Given the description of an element on the screen output the (x, y) to click on. 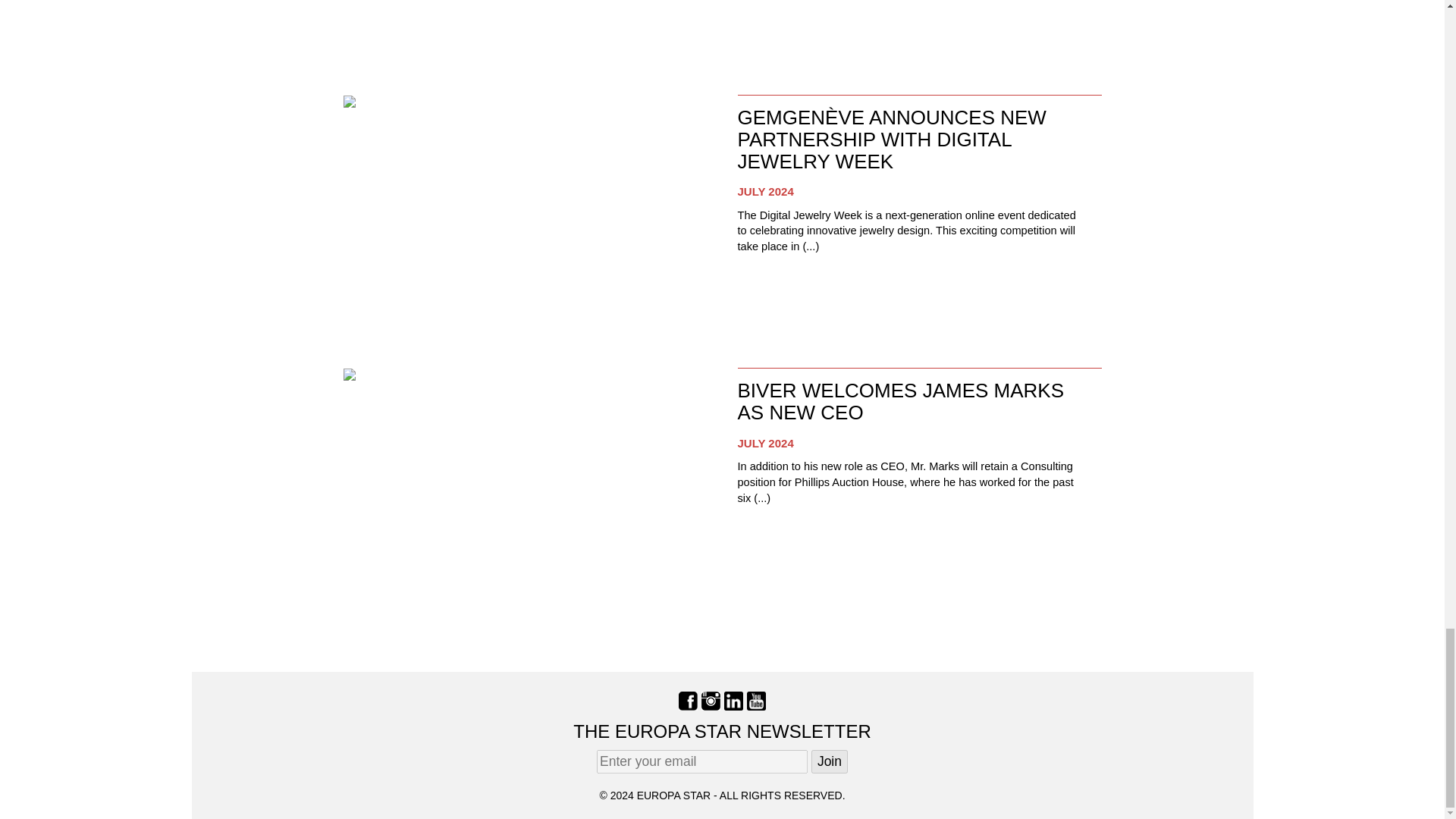
Facebook (687, 699)
Join (828, 761)
Linkedin (732, 699)
Instagram (710, 699)
Youtube (755, 699)
